Given the description of an element on the screen output the (x, y) to click on. 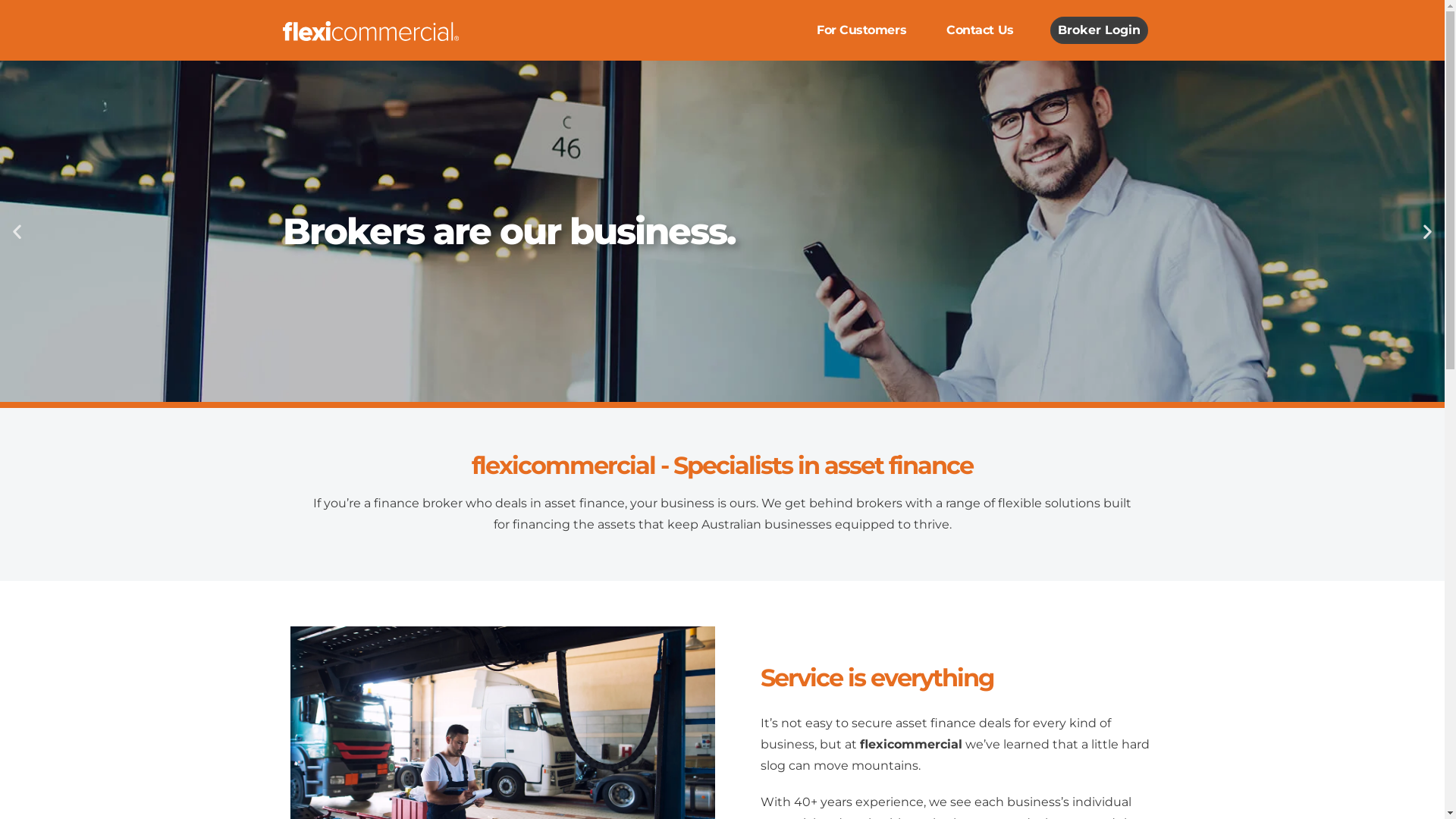
For Customers Element type: text (861, 30)
Broker Login Element type: text (1099, 29)
Skip to content Element type: text (11, 31)
Contact Us Element type: text (979, 30)
